Given the description of an element on the screen output the (x, y) to click on. 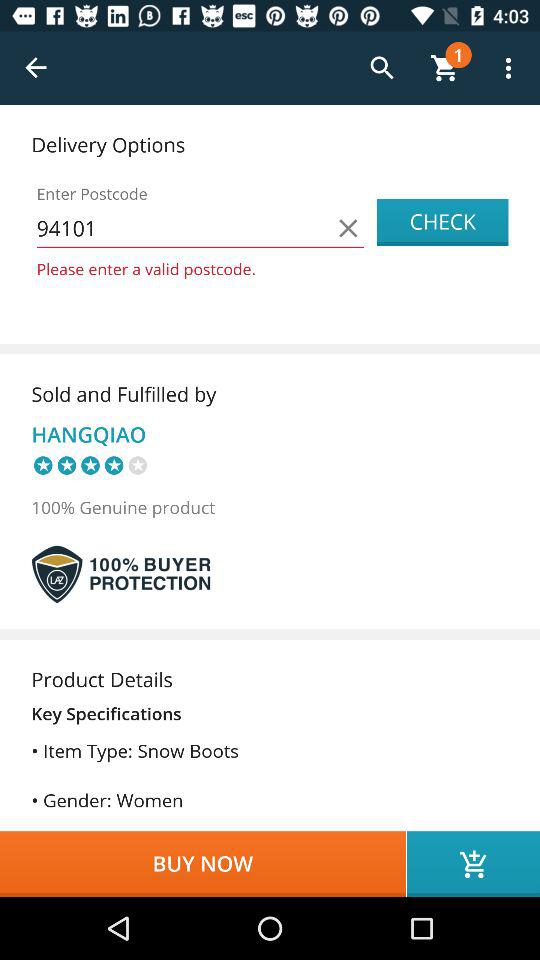
return to previous page (36, 68)
